Given the description of an element on the screen output the (x, y) to click on. 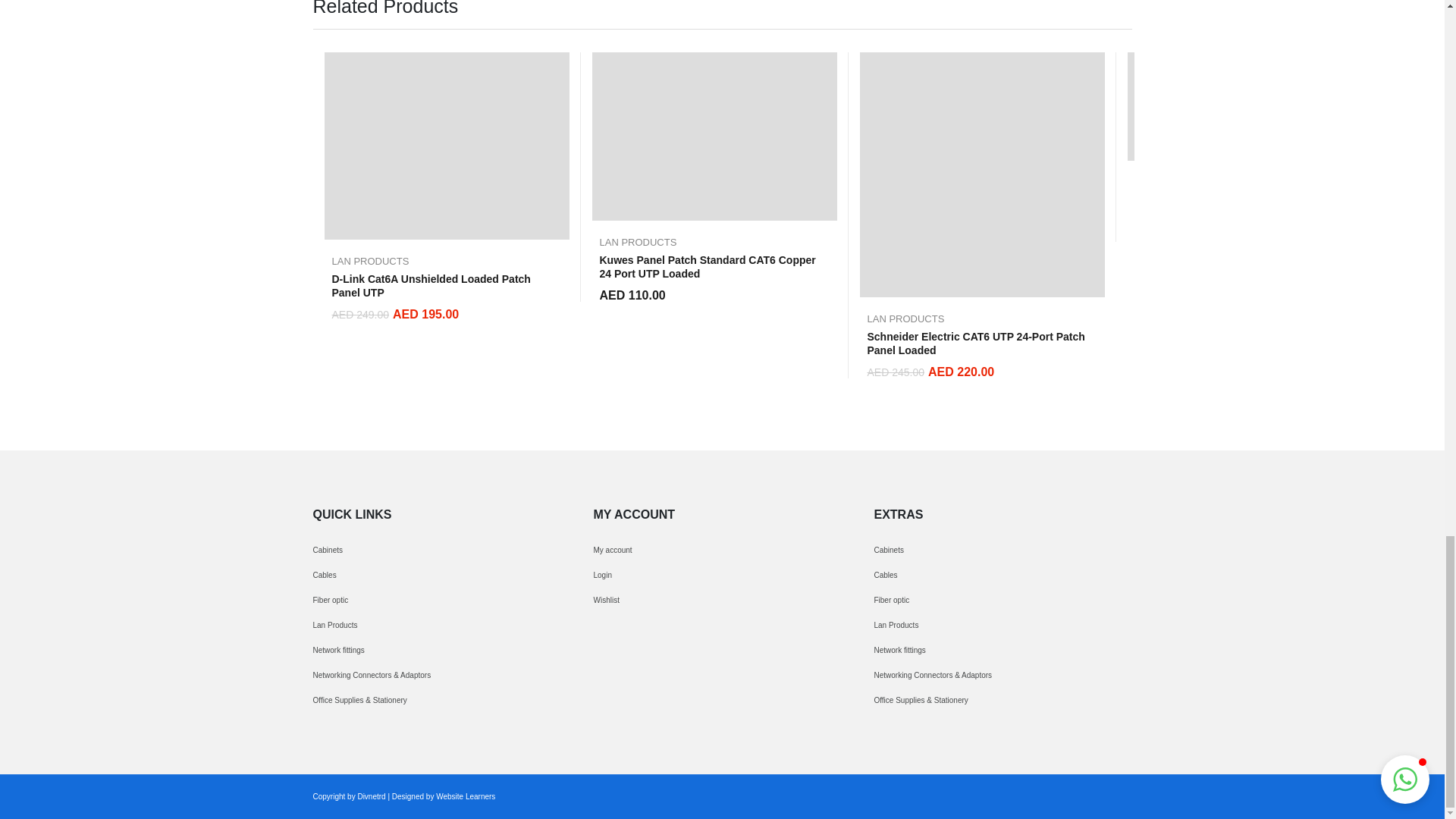
D-Link Cat6A Unshielded Loaded Patch Panel UTP (446, 145)
Kuwes Panel Patch Standard CAT6 Copper 24 Port UTP Loaded (713, 136)
